Given the description of an element on the screen output the (x, y) to click on. 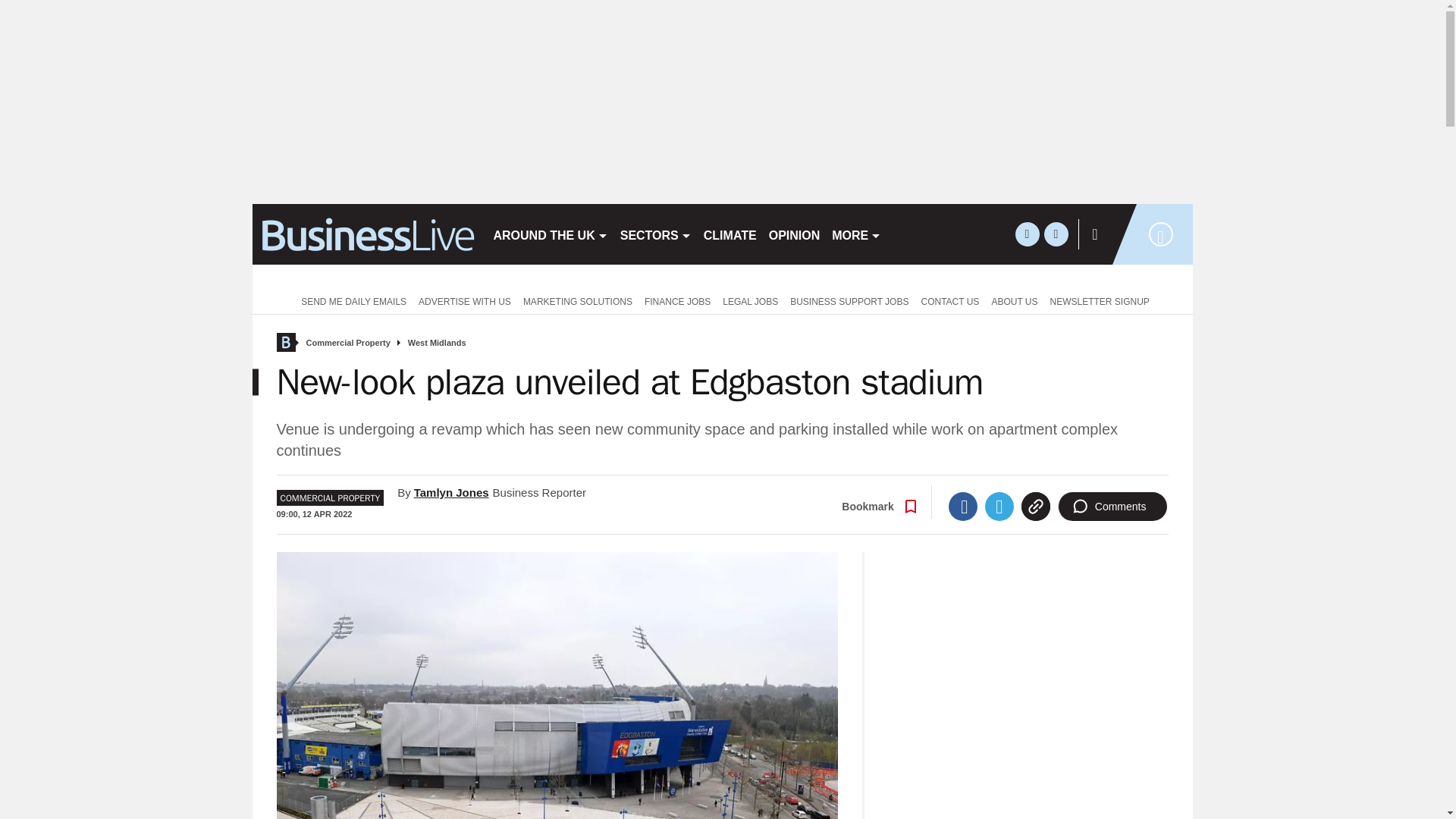
CLIMATE (729, 233)
SECTORS (655, 233)
OPINION (794, 233)
twitter (1026, 233)
ADVERTISE WITH US (464, 300)
SEND ME DAILY EMAILS (350, 300)
Twitter (999, 506)
FINANCE JOBS (677, 300)
linkedin (1055, 233)
Facebook (962, 506)
